Given the description of an element on the screen output the (x, y) to click on. 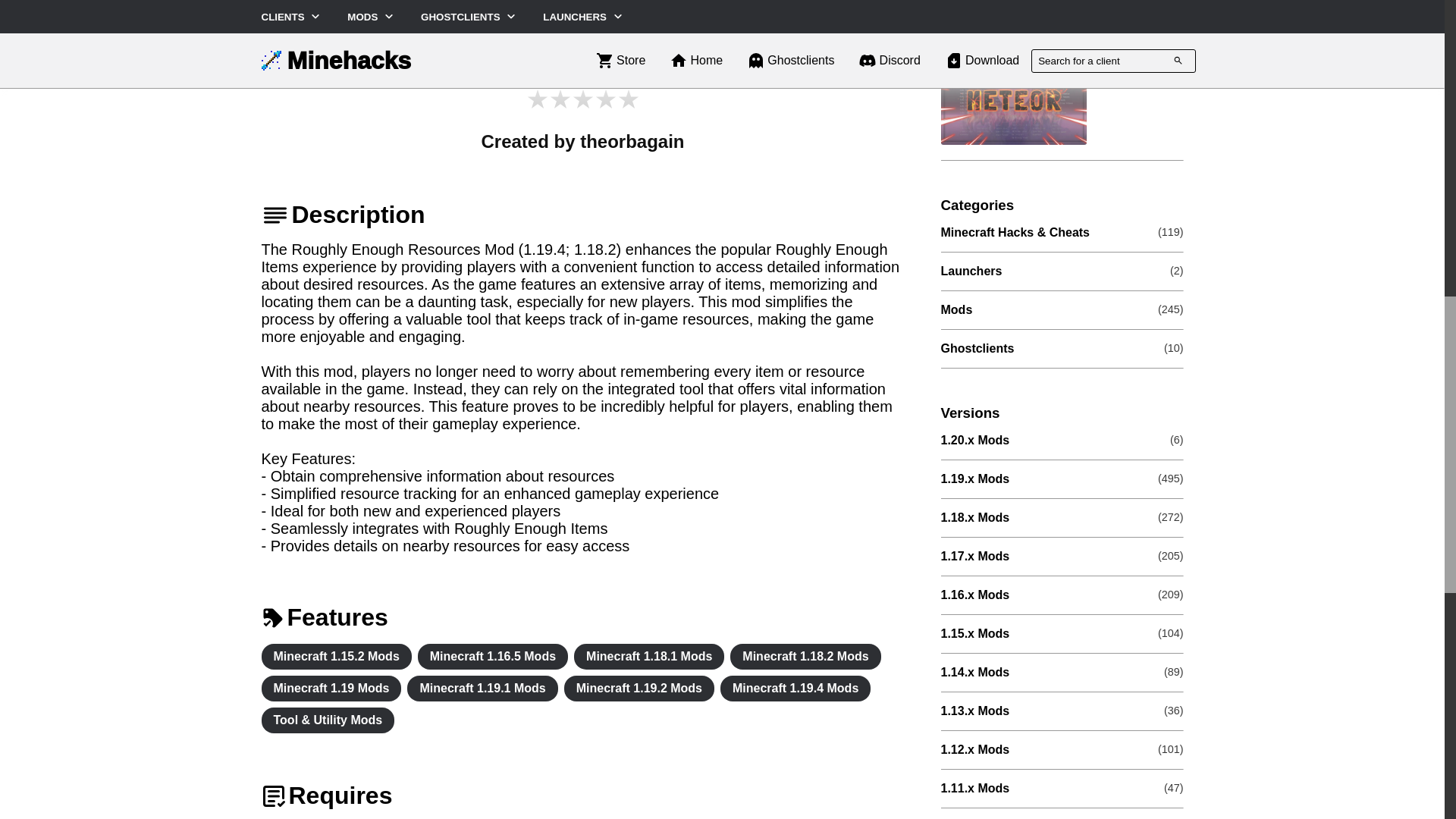
Advertisement (582, 42)
